Given the description of an element on the screen output the (x, y) to click on. 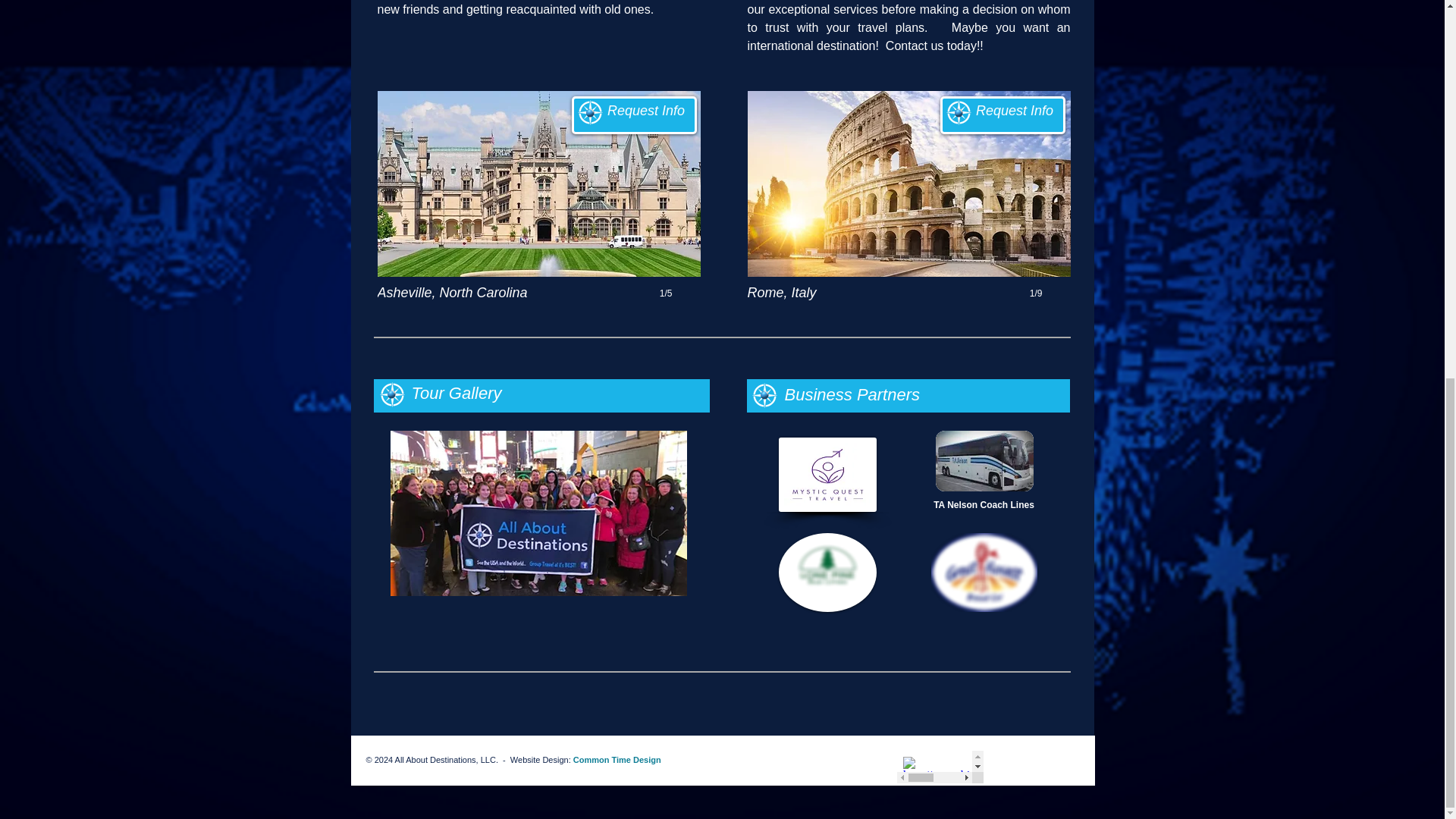
Embedded Content (939, 766)
